Given the description of an element on the screen output the (x, y) to click on. 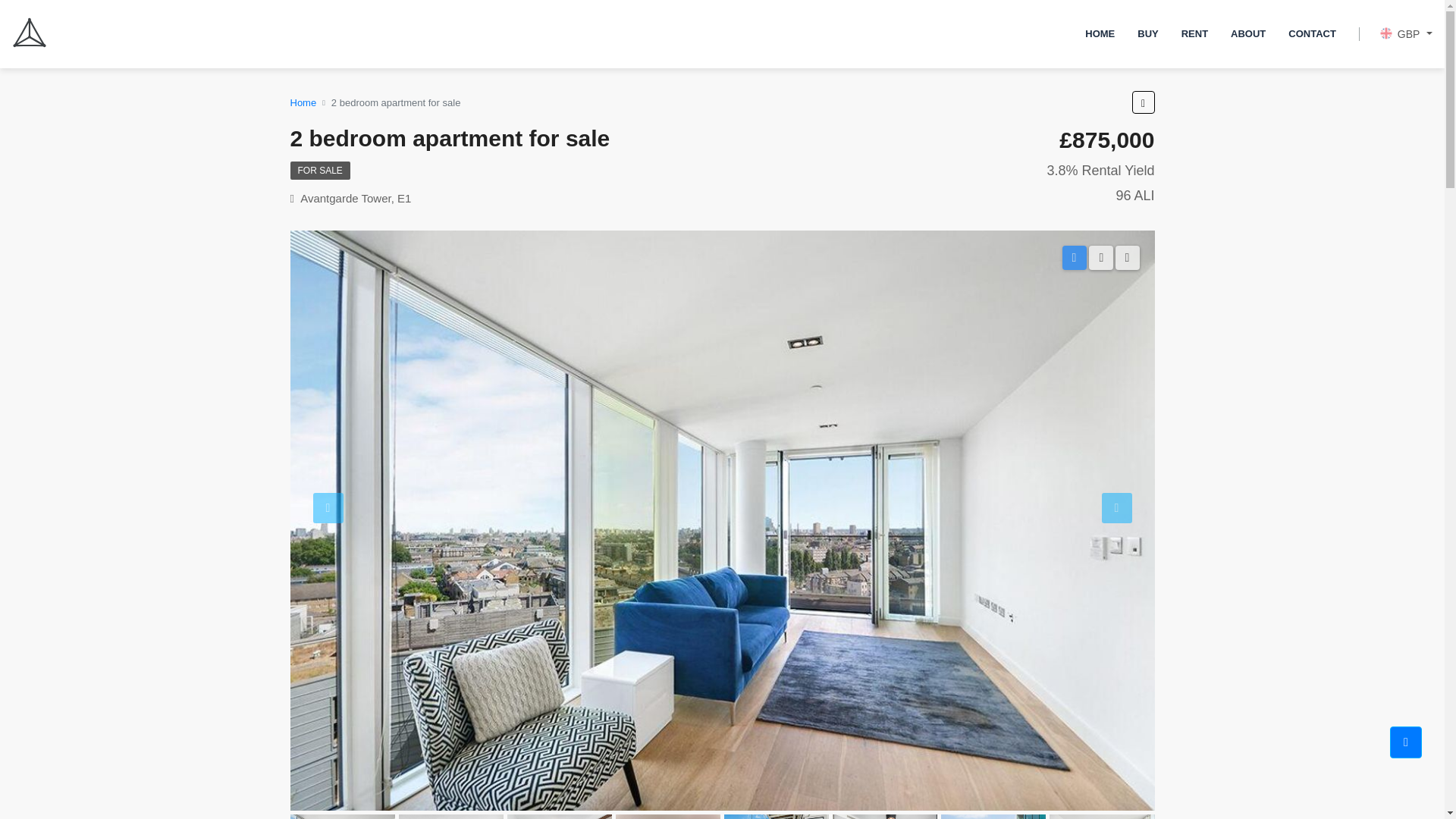
Home (302, 101)
FOR SALE (319, 170)
BUY (1147, 33)
RENT (1195, 33)
HOME (1099, 33)
ABOUT (1248, 33)
GBP (1405, 34)
CONTACT (1312, 33)
